Given the description of an element on the screen output the (x, y) to click on. 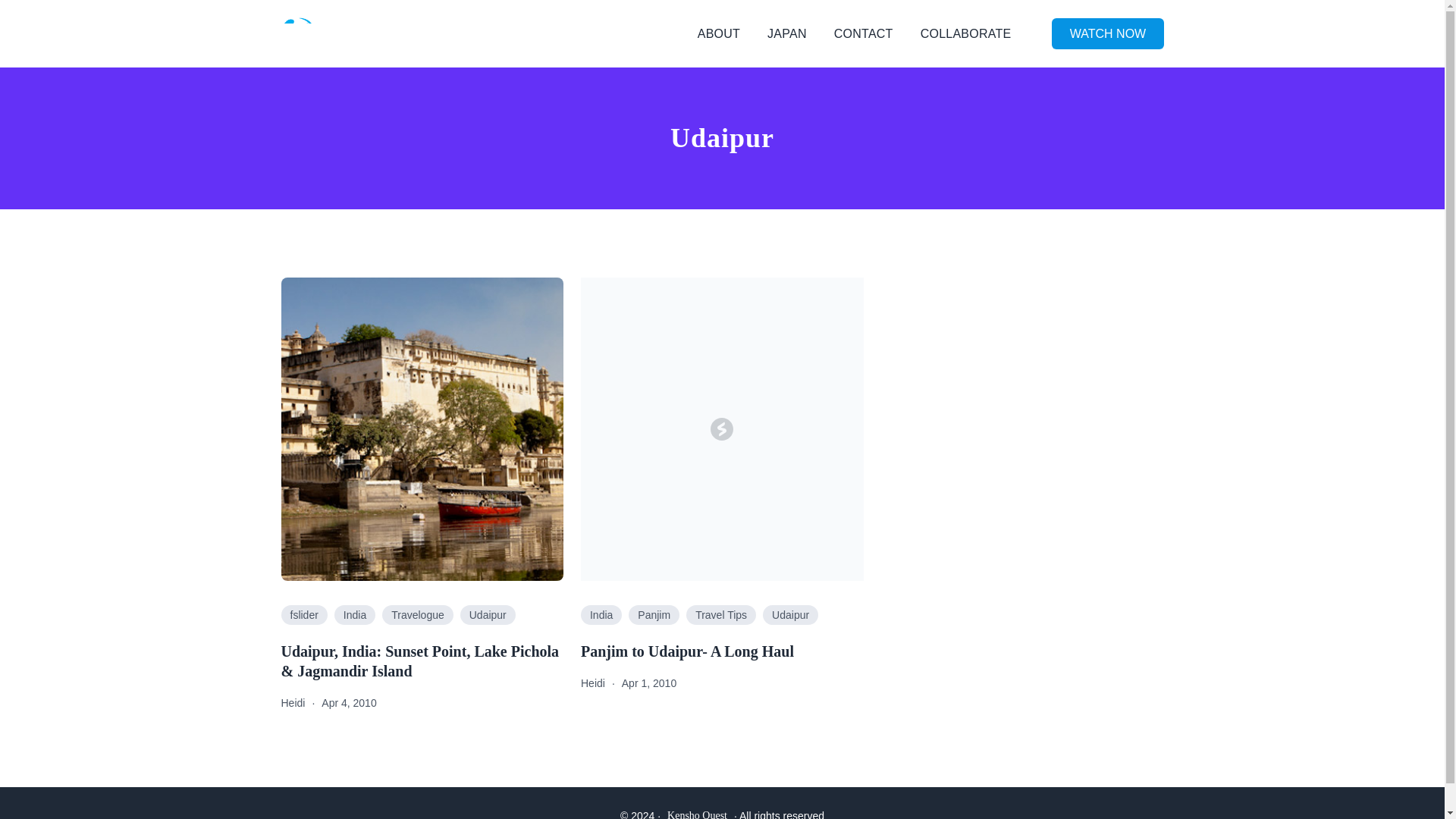
ABOUT (718, 34)
Udaipur (487, 614)
Udaipur (790, 614)
Panjim (653, 614)
Kensho Quest (696, 814)
WATCH NOW (1107, 33)
COLLABORATE (965, 34)
kenshoquest-logo-225 (326, 32)
Travelogue (416, 614)
Travel Tips (720, 614)
